Given the description of an element on the screen output the (x, y) to click on. 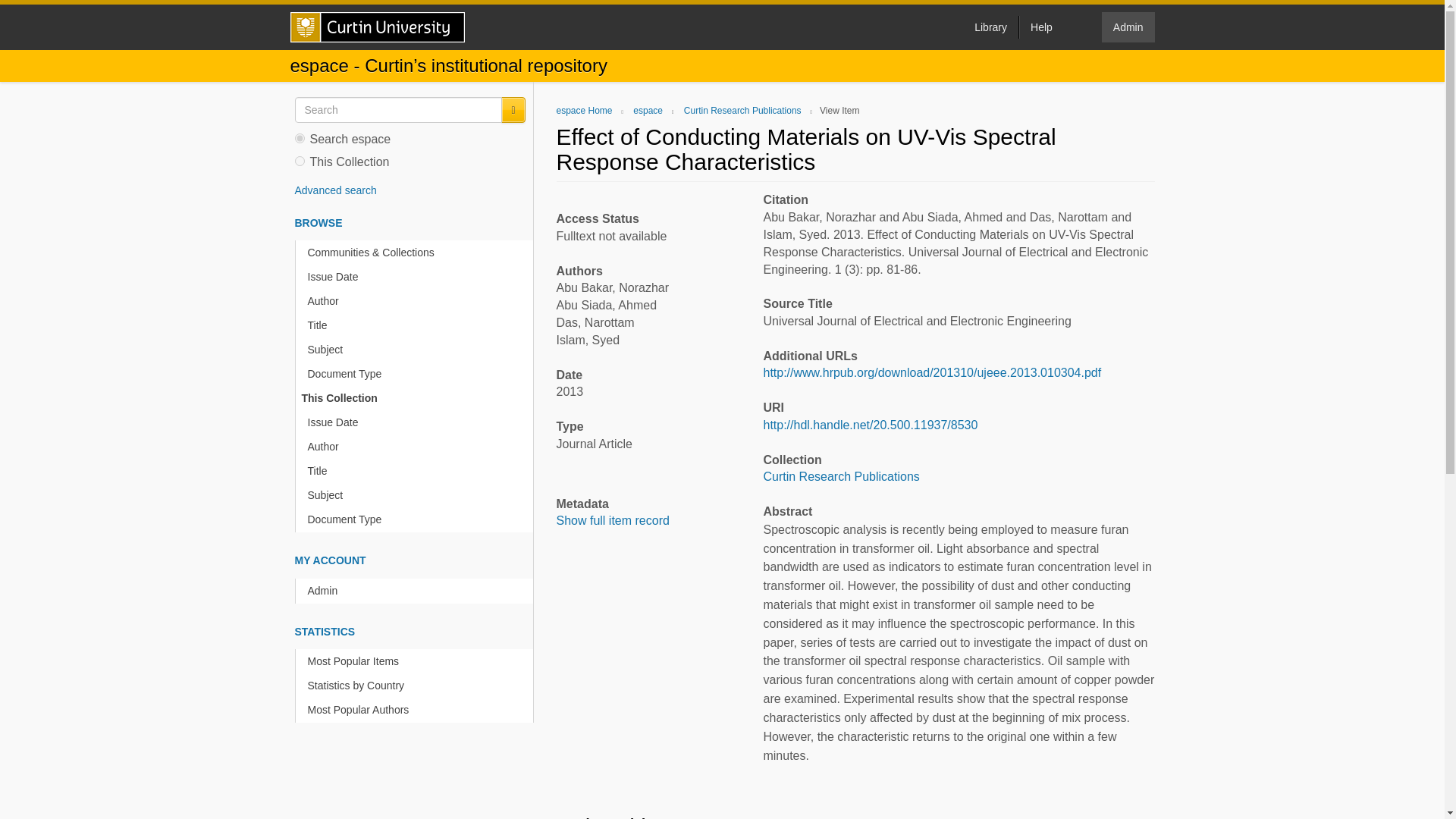
Issue Date (416, 276)
Curtin Research Publications (840, 476)
Go (512, 109)
Help (1040, 26)
Document Type (416, 373)
Title (416, 325)
Curtin University Homepage (376, 27)
Author (416, 301)
Document Type (416, 519)
Show full item record (612, 520)
